Given the description of an element on the screen output the (x, y) to click on. 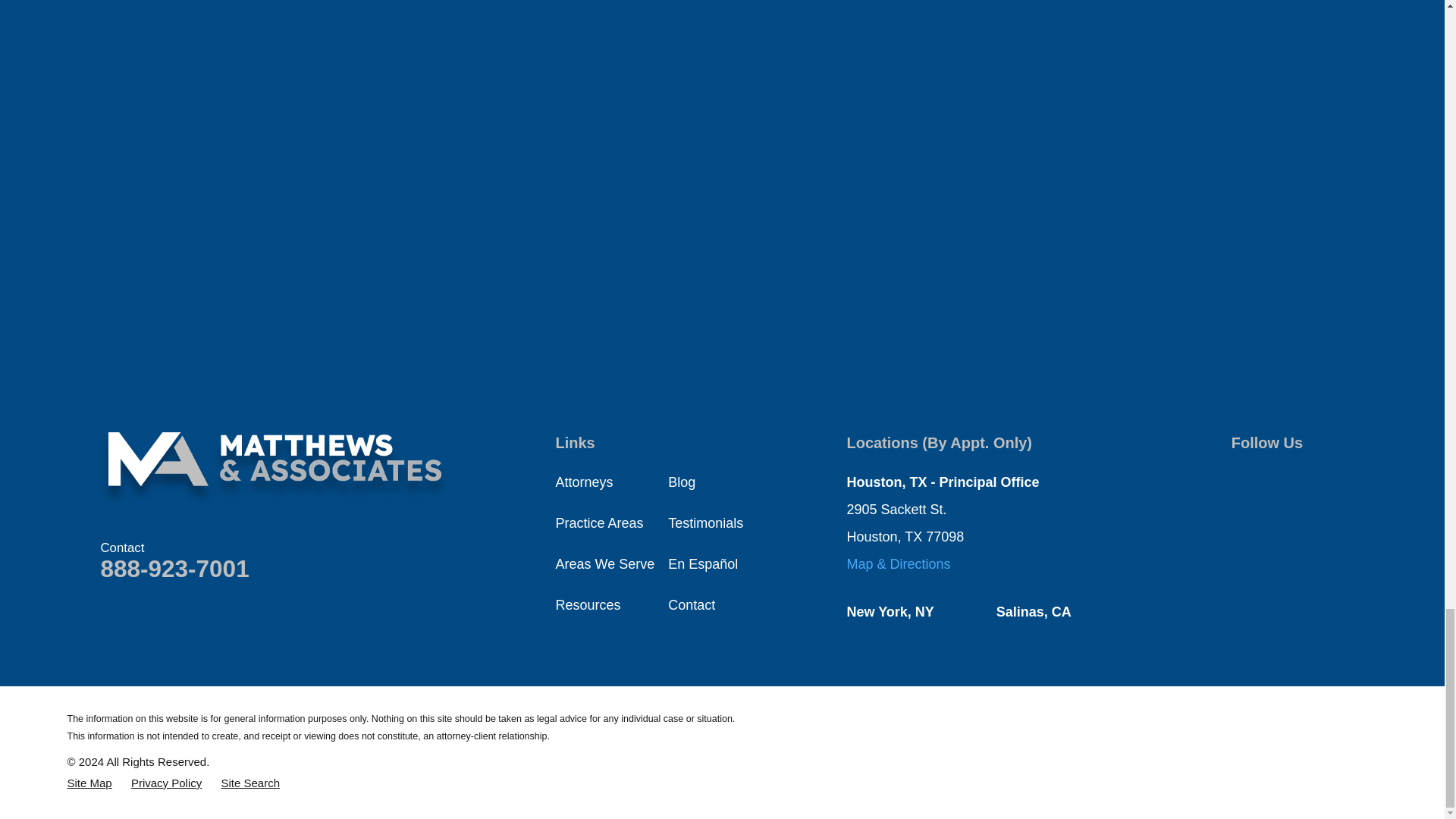
Instagram (1240, 517)
Home (274, 468)
LinkedIn (1280, 517)
Facebook (1240, 477)
YouTube (1319, 477)
Twitter (1280, 477)
